Given the description of an element on the screen output the (x, y) to click on. 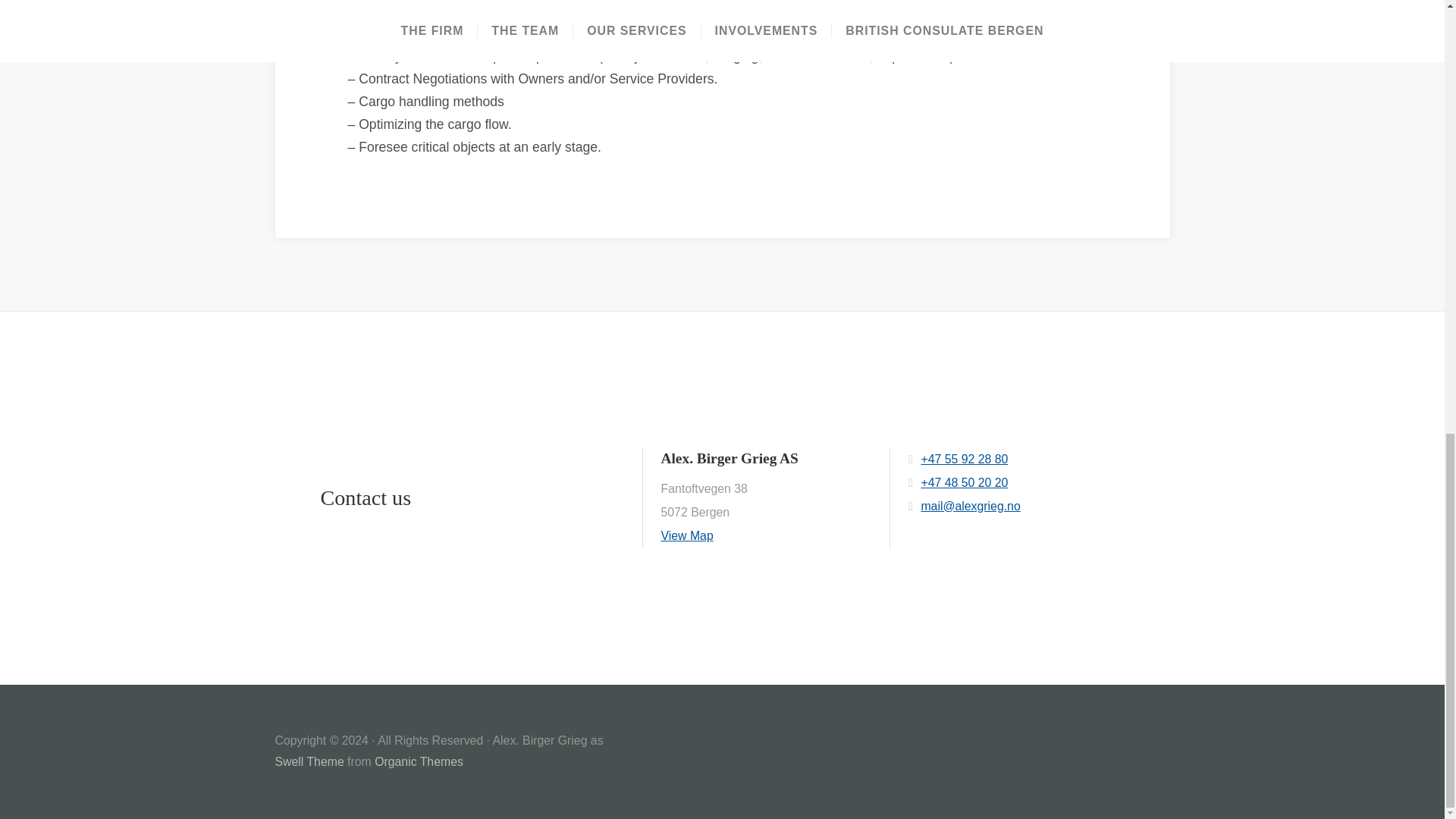
Organic Themes (418, 761)
Swell Theme (309, 761)
View Map (687, 535)
